Given the description of an element on the screen output the (x, y) to click on. 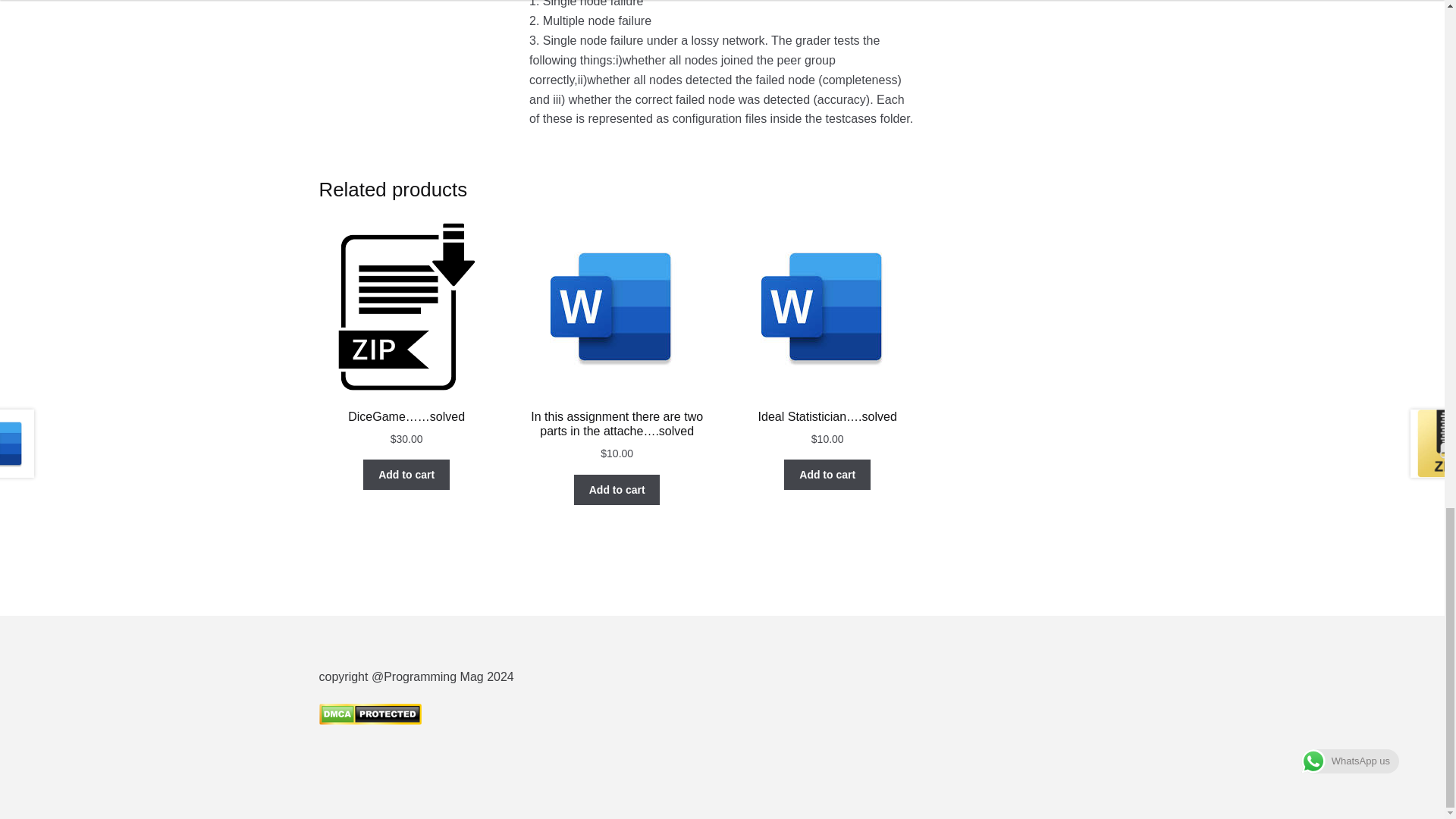
Add to cart (617, 490)
Add to cart (405, 474)
Add to cart (827, 474)
